Given the description of an element on the screen output the (x, y) to click on. 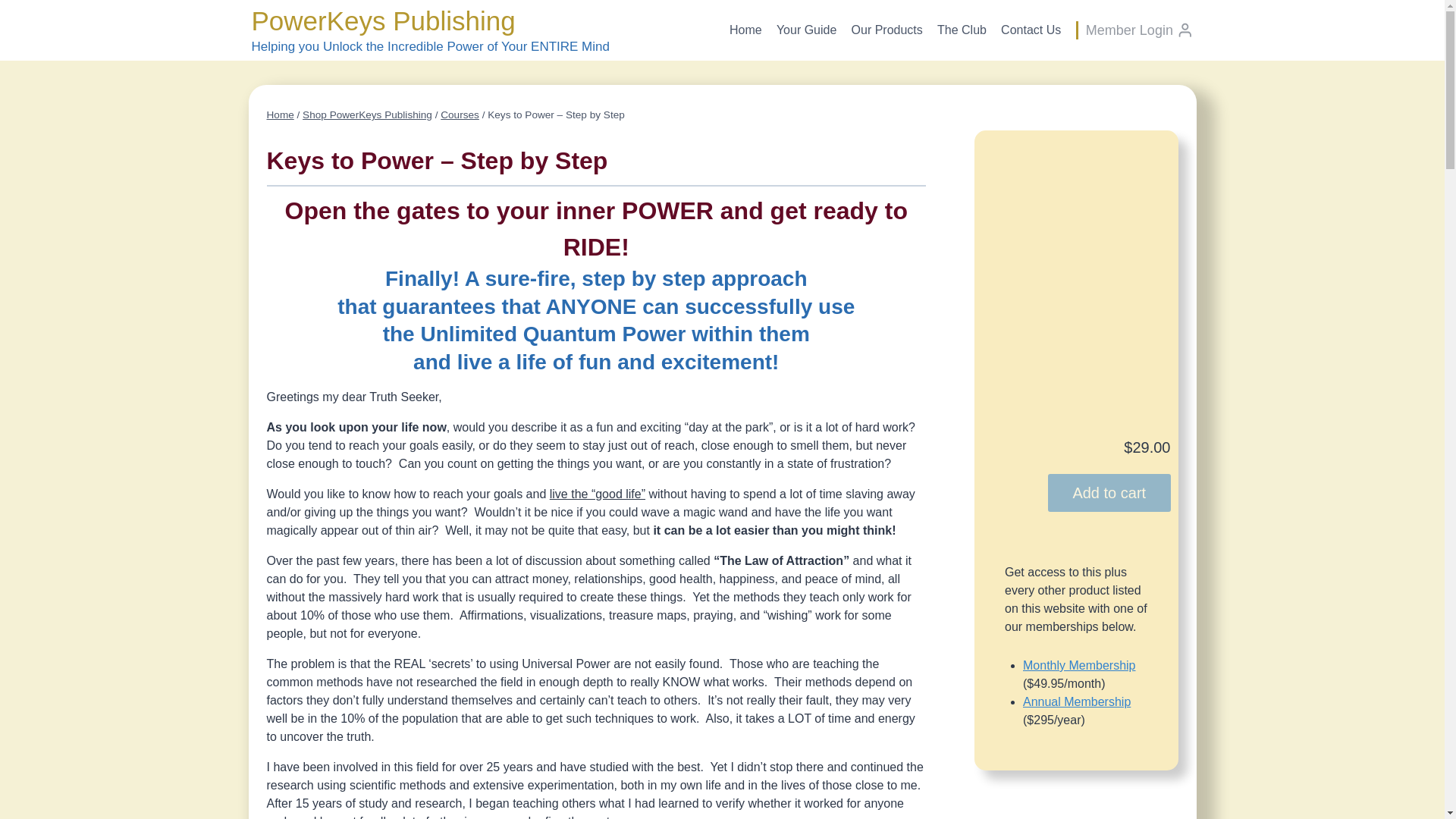
Courses (460, 114)
Home (745, 29)
Your Guide (806, 29)
Monthly Membership (1079, 665)
Our Products (887, 29)
Annual Membership (1077, 701)
Member Login (1139, 30)
Contact Us (1031, 29)
Home (280, 114)
